Given the description of an element on the screen output the (x, y) to click on. 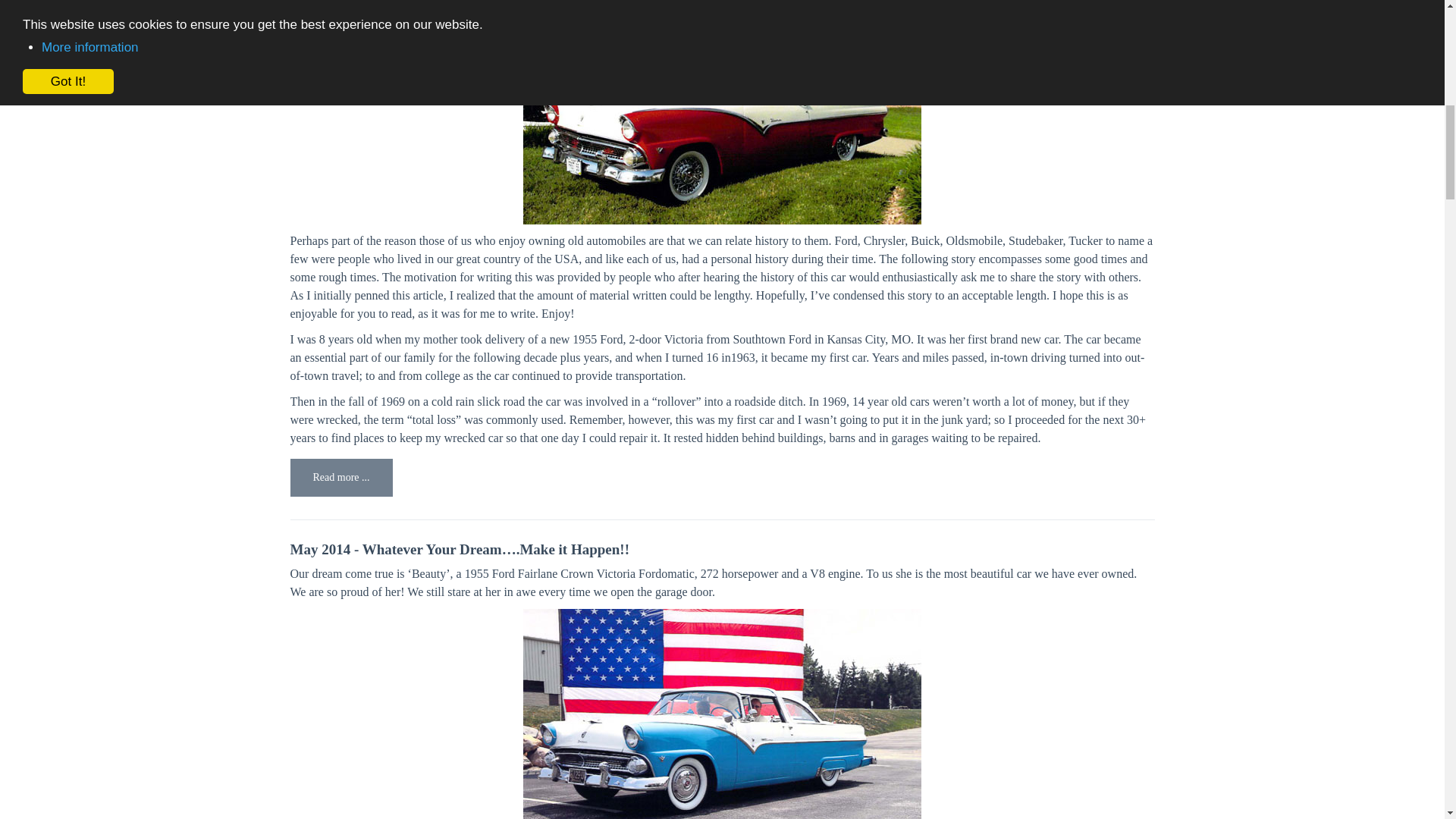
Read more ... (340, 477)
